Given the description of an element on the screen output the (x, y) to click on. 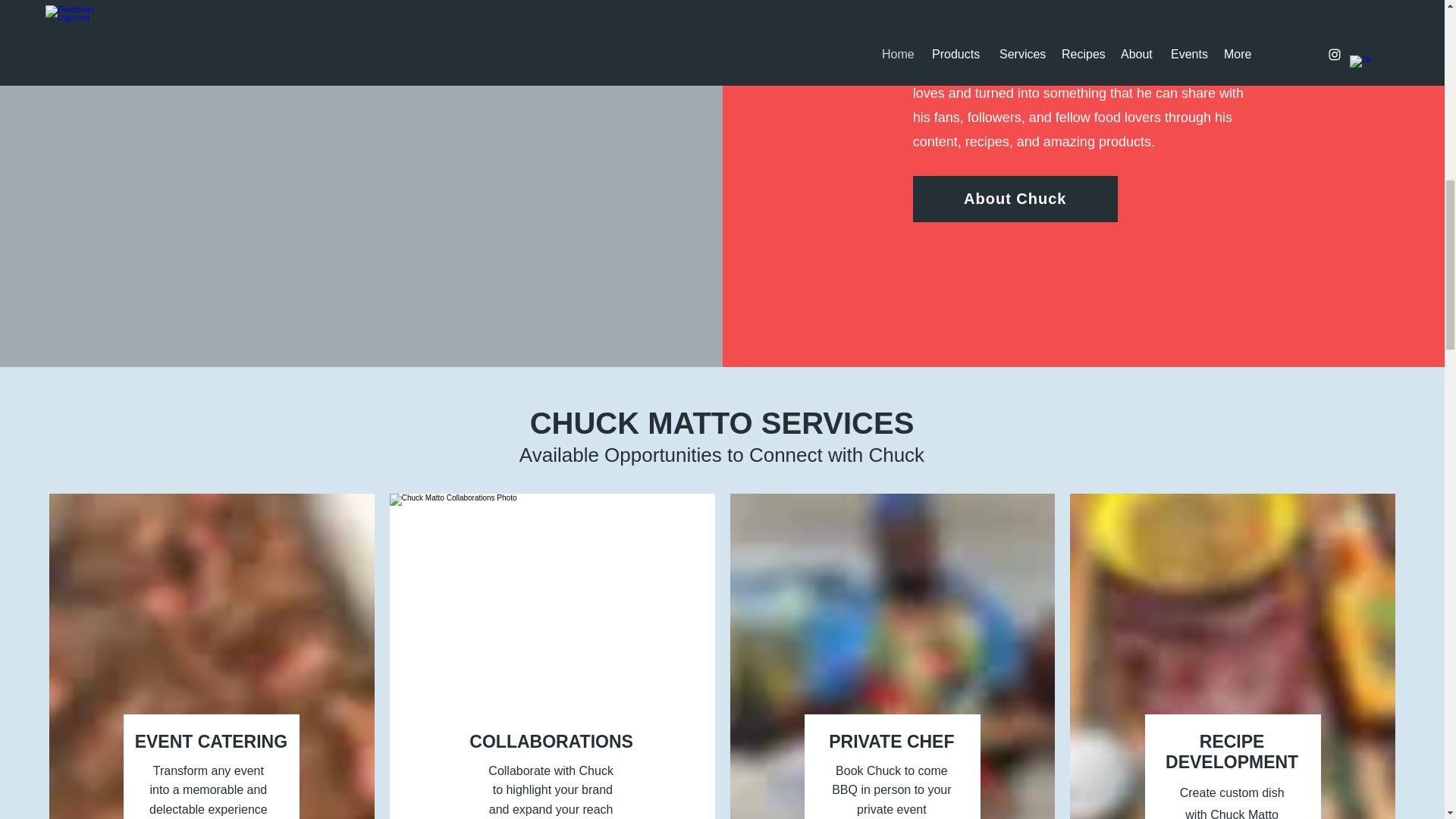
About Chuck (1015, 198)
